Given the description of an element on the screen output the (x, y) to click on. 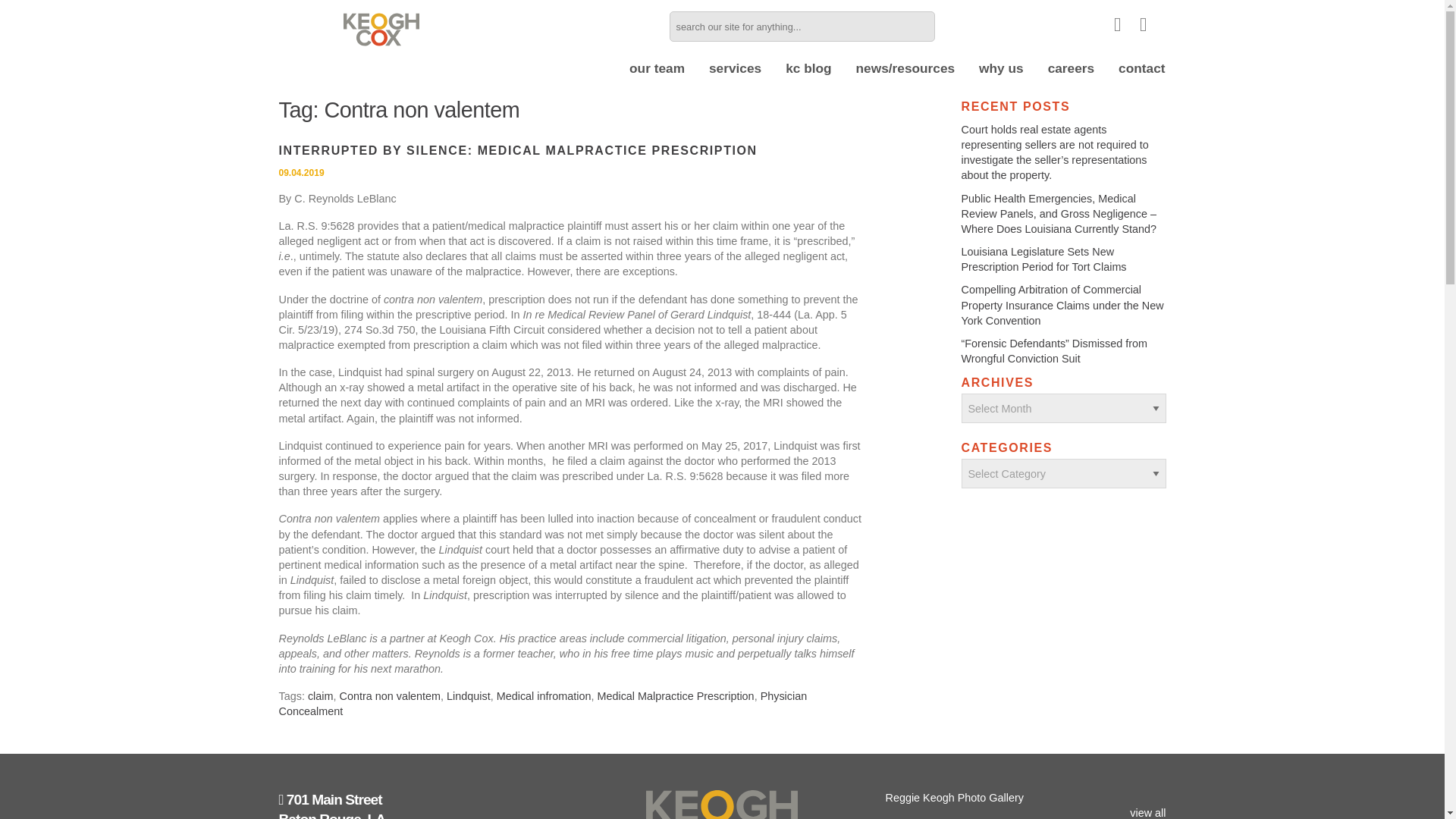
INTERRUPTED BY SILENCE: MEDICAL MALPRACTICE PRESCRIPTION (518, 150)
our team (657, 69)
why us (1000, 69)
Medical infromation (543, 695)
view all (1147, 812)
careers (1070, 69)
Interrupted by Silence: Medical Malpractice Prescription (518, 150)
services (735, 69)
Contra non valentem (390, 695)
